Given the description of an element on the screen output the (x, y) to click on. 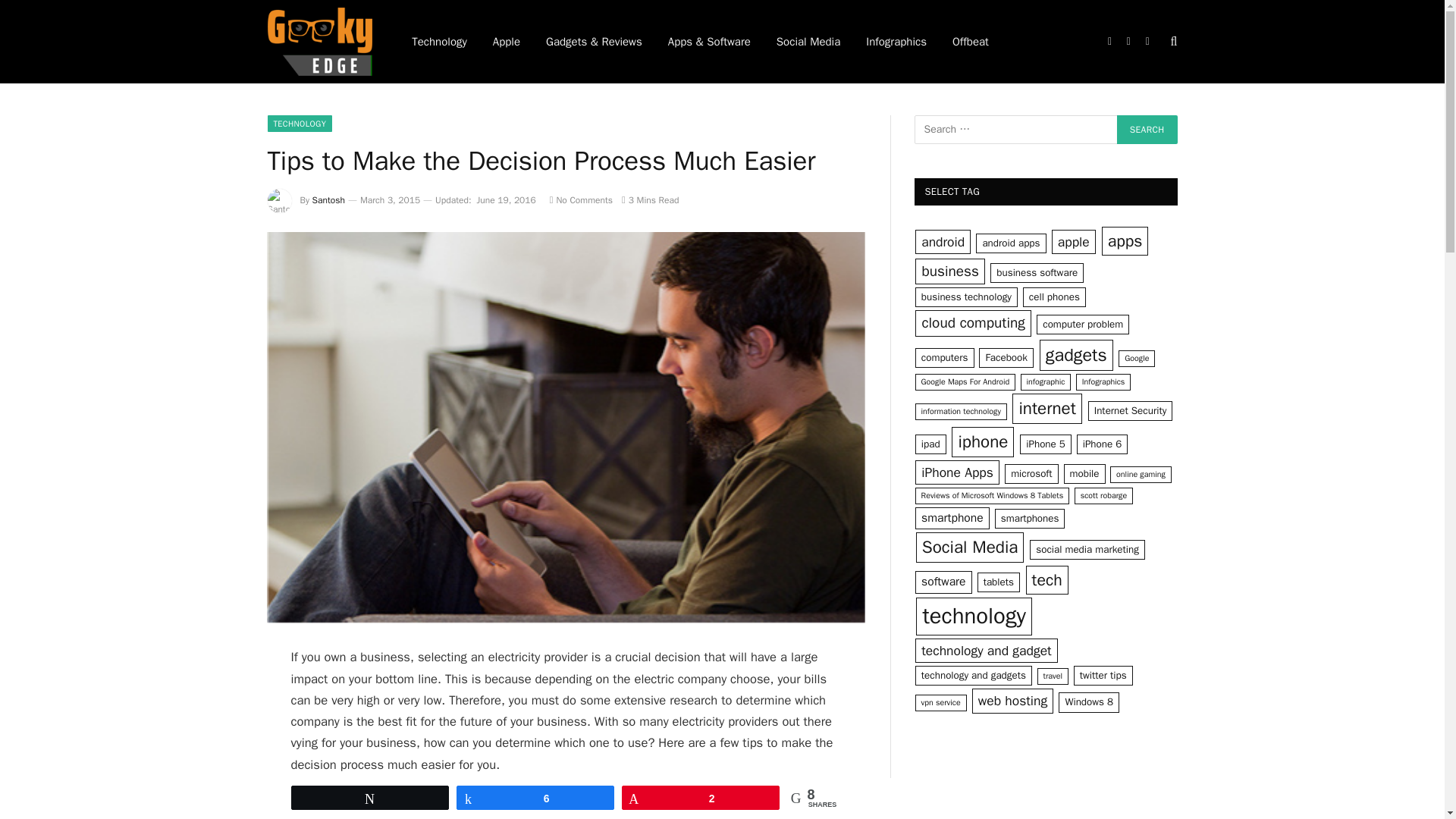
Santosh (329, 200)
TECHNOLOGY (298, 123)
Posts by Santosh (329, 200)
Search (1146, 129)
Search (1146, 129)
No Comments (581, 200)
Social Media (807, 41)
Technology (439, 41)
Infographics (896, 41)
